Given the description of an element on the screen output the (x, y) to click on. 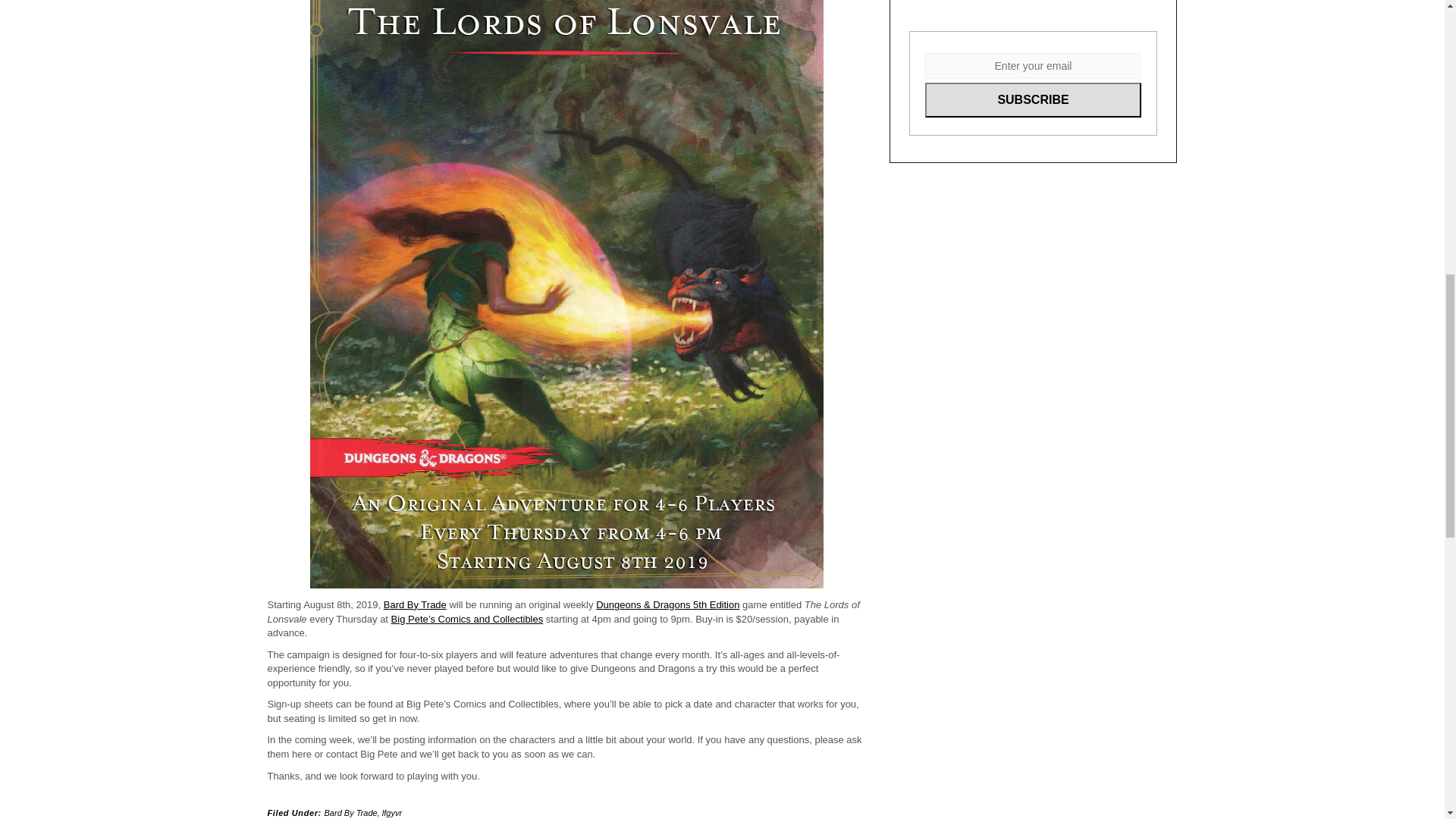
Bard By Trade (415, 604)
Bard By Trade (350, 812)
Subscribe (1032, 99)
lfgyvr (391, 812)
Subscribe (1032, 99)
